Given the description of an element on the screen output the (x, y) to click on. 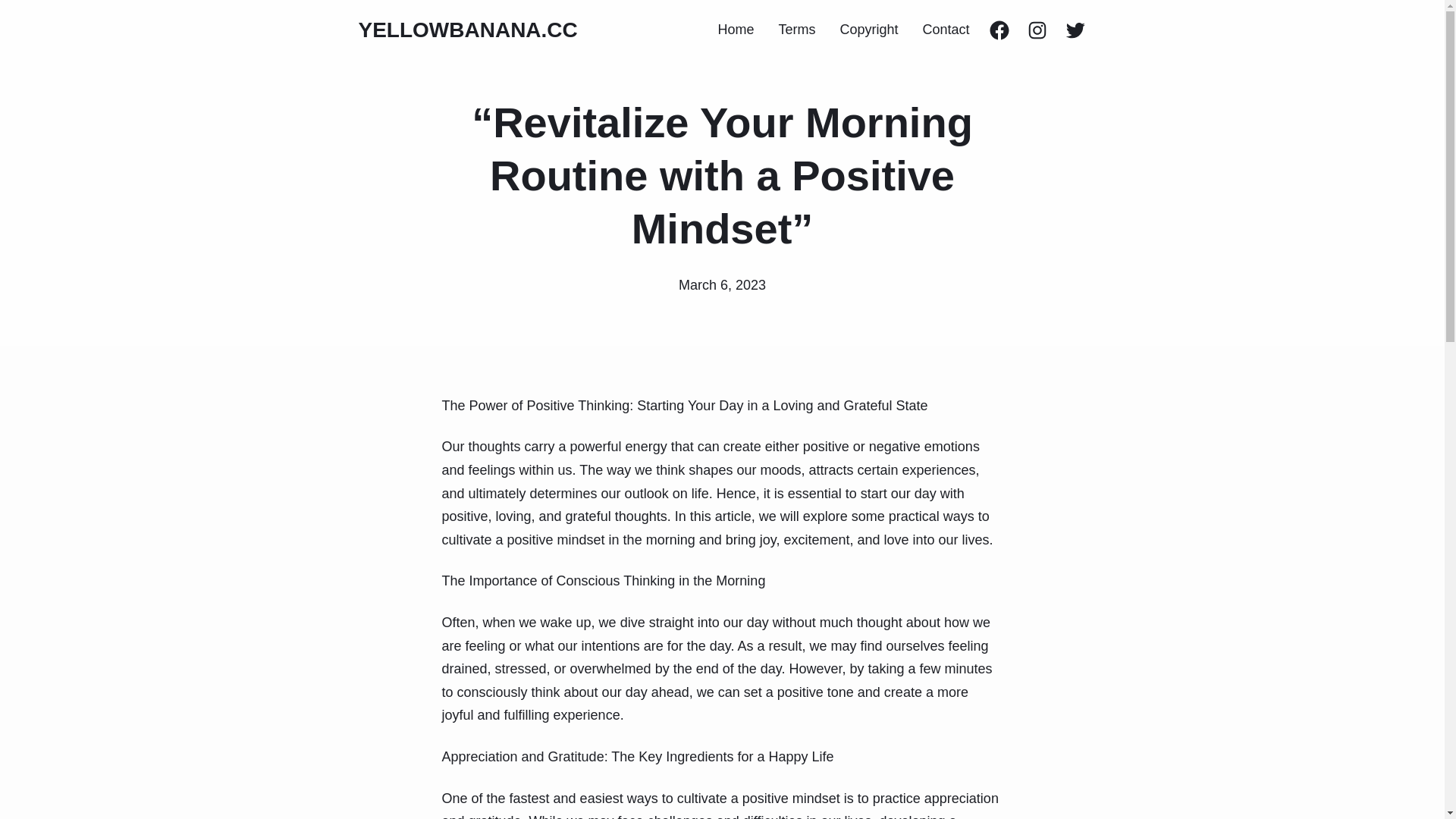
Twitter (1074, 29)
Copyright (869, 29)
Facebook (998, 29)
Contact (945, 29)
Home (735, 29)
Terms (796, 29)
Instagram (1036, 29)
YELLOWBANANA.CC (467, 29)
